Given the description of an element on the screen output the (x, y) to click on. 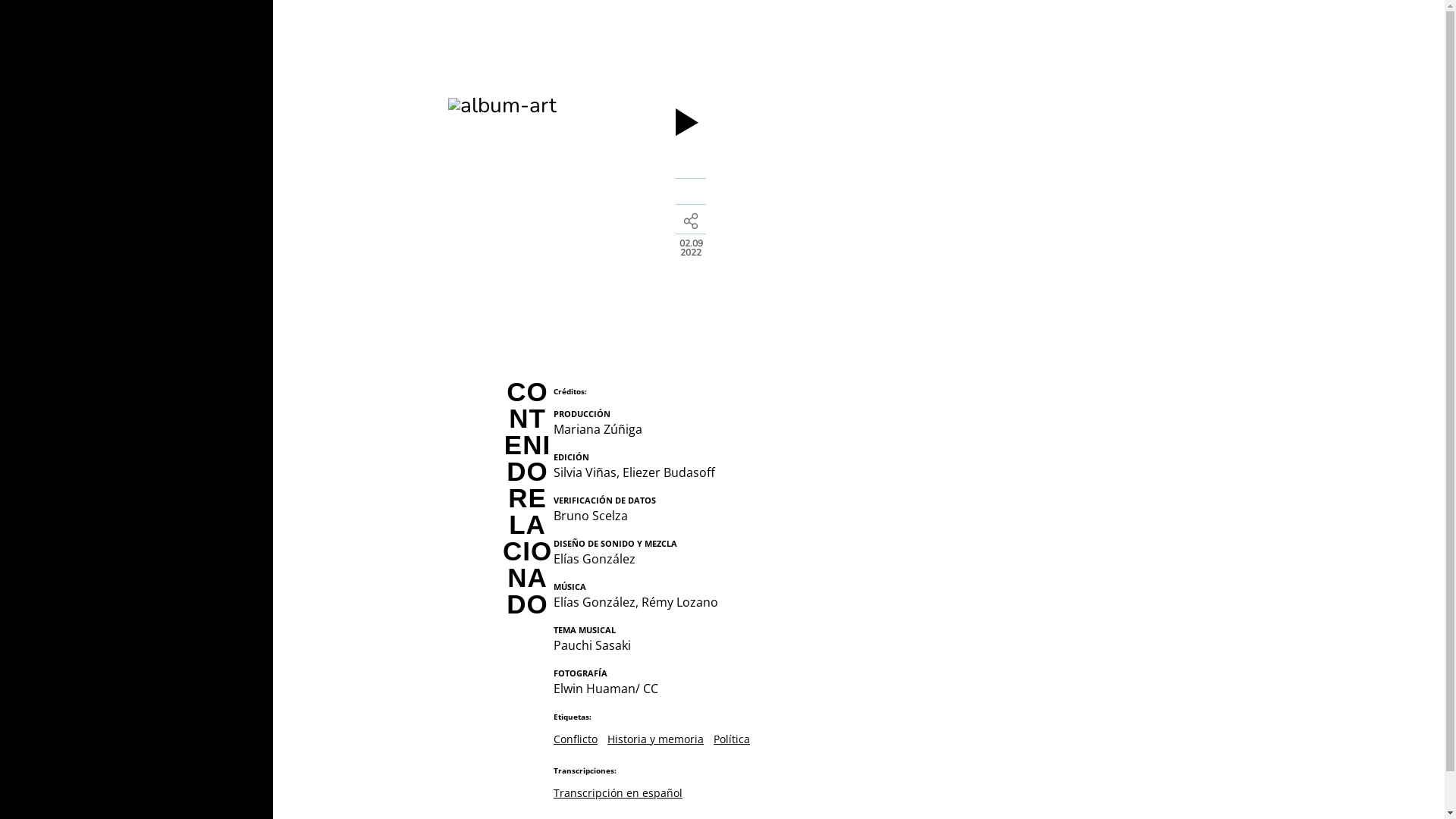
Conflicto Element type: text (575, 738)
Historia y memoria Element type: text (655, 738)
